Given the description of an element on the screen output the (x, y) to click on. 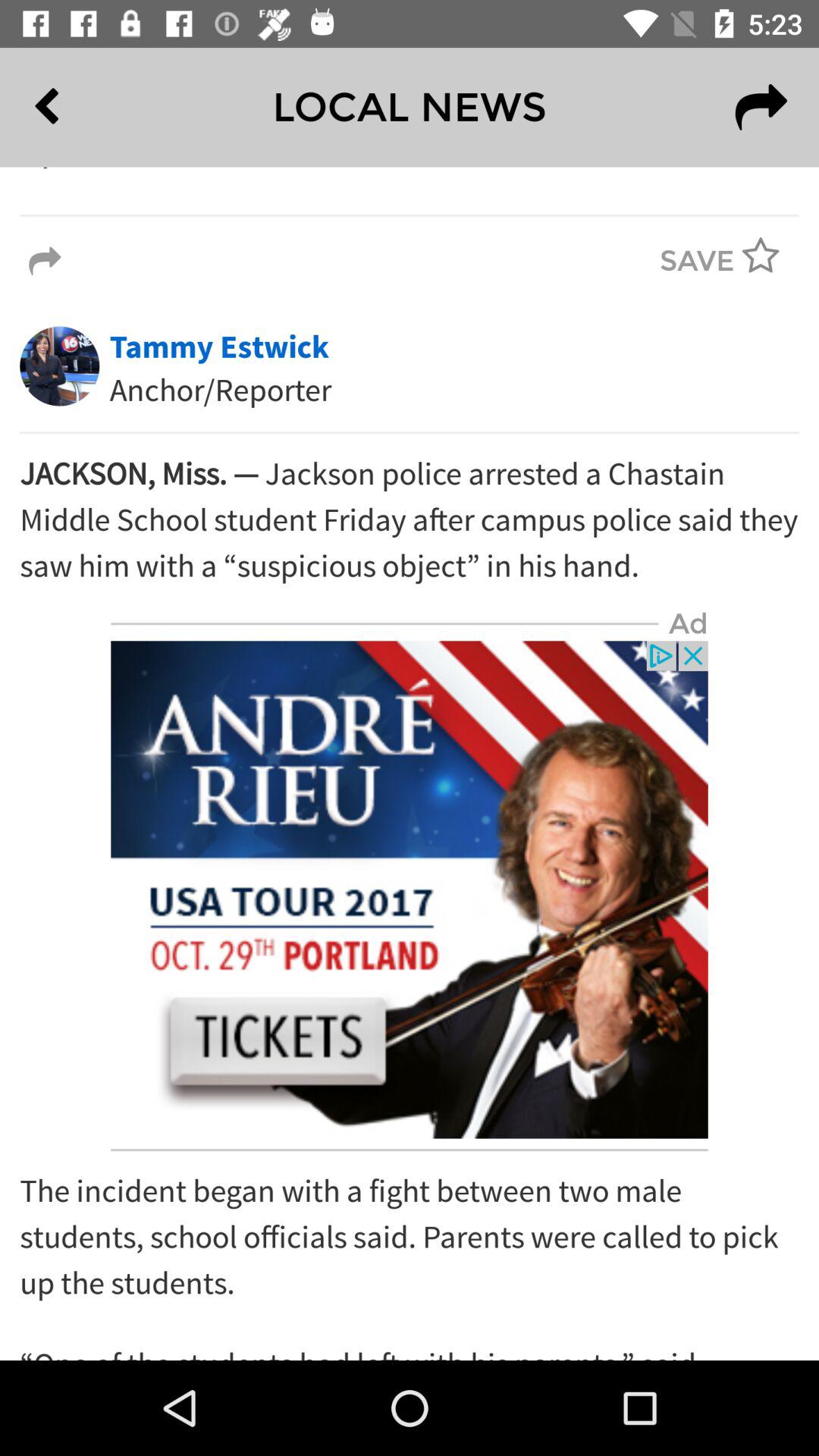
go to advertisement website (409, 889)
